Given the description of an element on the screen output the (x, y) to click on. 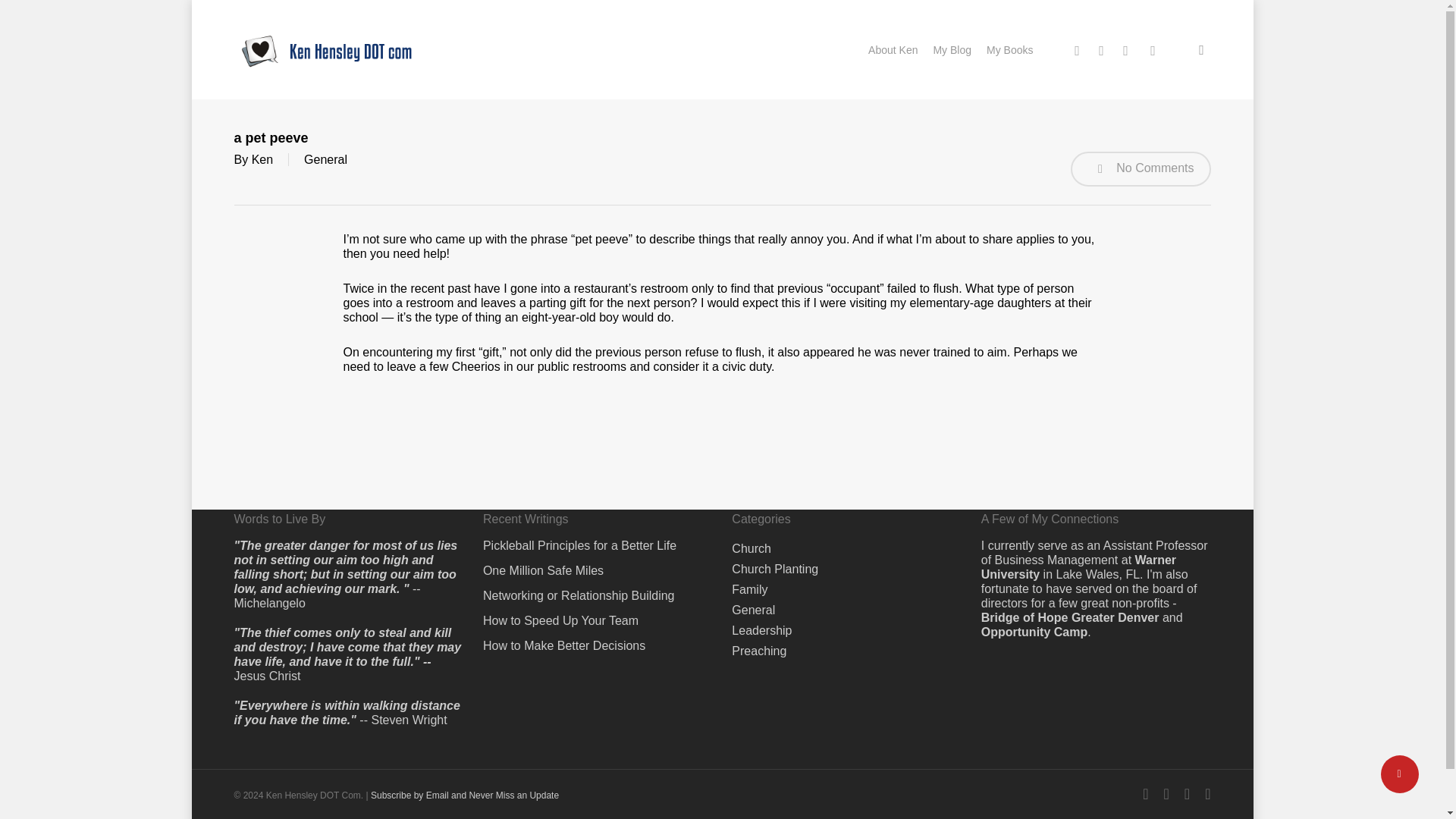
No Comments (1140, 168)
facebook (1101, 48)
Leadership (762, 630)
Pickleball Principles for a Better Life (598, 545)
Posts by Ken (262, 159)
Preaching (759, 650)
Ken (262, 159)
youtube (1152, 48)
Church (751, 548)
General (753, 609)
General (325, 159)
Networking or Relationship Building (598, 595)
About Ken (892, 49)
My Books (1009, 49)
One Million Safe Miles (598, 570)
